Given the description of an element on the screen output the (x, y) to click on. 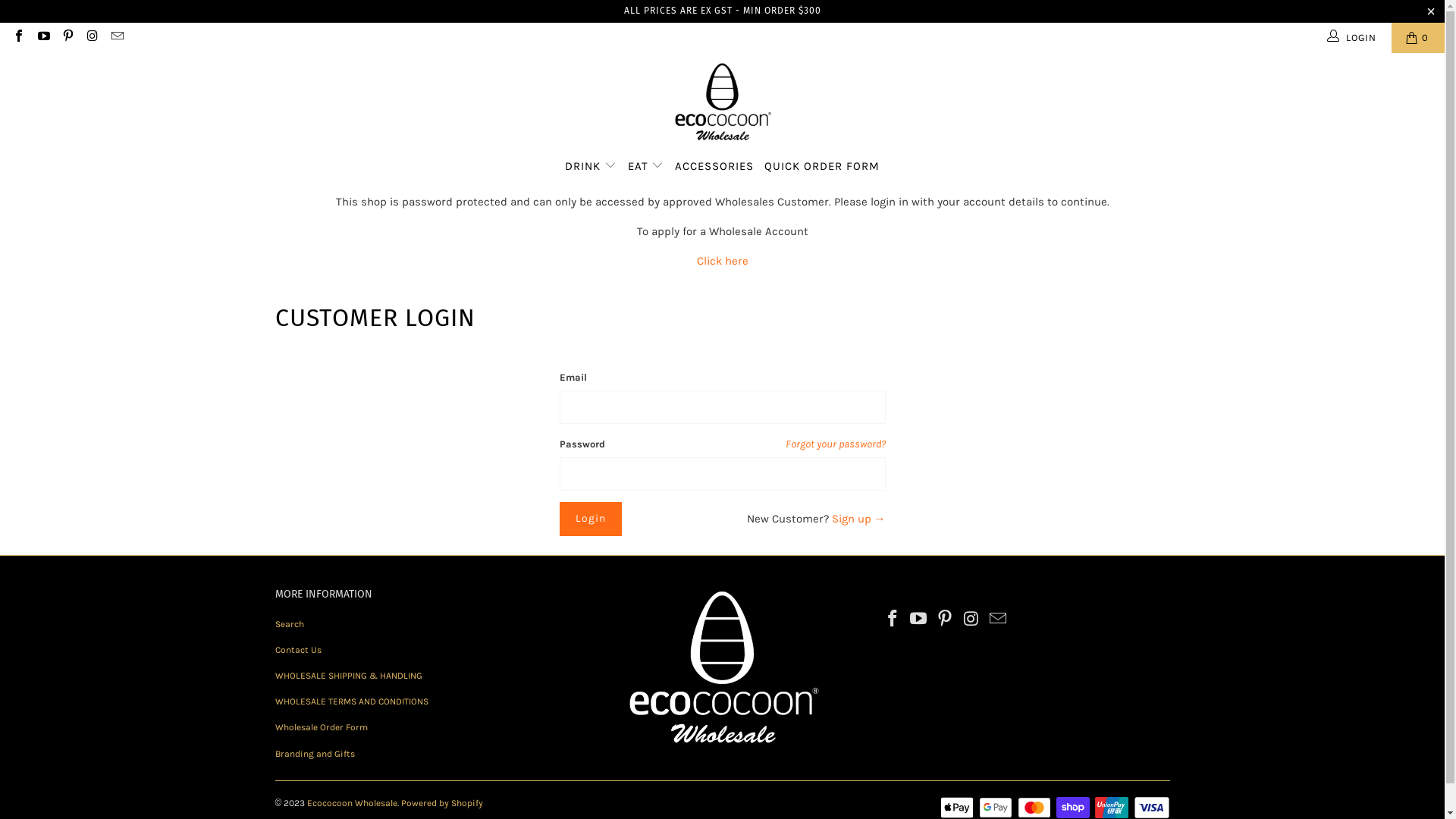
Login Element type: text (590, 519)
Ecococoon Wholesale on Pinterest Element type: hover (67, 37)
0 Element type: text (1417, 37)
Email Ecococoon Wholesale Element type: hover (997, 619)
Ecococoon Wholesale Element type: text (352, 802)
Ecococoon Wholesale on Facebook Element type: hover (892, 619)
Ecococoon Wholesale on Instagram Element type: hover (971, 619)
DRINK Element type: text (590, 165)
LOGIN Element type: text (1352, 37)
Ecococoon Wholesale on Facebook Element type: hover (18, 37)
Ecococoon Wholesale on Instagram Element type: hover (91, 37)
Email Ecococoon Wholesale Element type: hover (116, 37)
Branding and Gifts Element type: text (314, 753)
ACCESSORIES Element type: text (713, 166)
Click here Element type: text (721, 260)
Powered by Shopify Element type: text (442, 802)
Ecococoon Wholesale on Pinterest Element type: hover (945, 619)
Ecococoon Wholesale Element type: hover (722, 103)
Ecococoon Wholesale on YouTube Element type: hover (42, 37)
Forgot your password? Element type: text (835, 443)
WHOLESALE SHIPPING & HANDLING Element type: text (347, 675)
Wholesale Order Form Element type: text (320, 726)
QUICK ORDER FORM Element type: text (821, 166)
Contact Us Element type: text (297, 649)
WHOLESALE TERMS AND CONDITIONS Element type: text (350, 701)
Ecococoon Wholesale on YouTube Element type: hover (918, 619)
Search Element type: text (288, 623)
EAT Element type: text (645, 165)
